Given the description of an element on the screen output the (x, y) to click on. 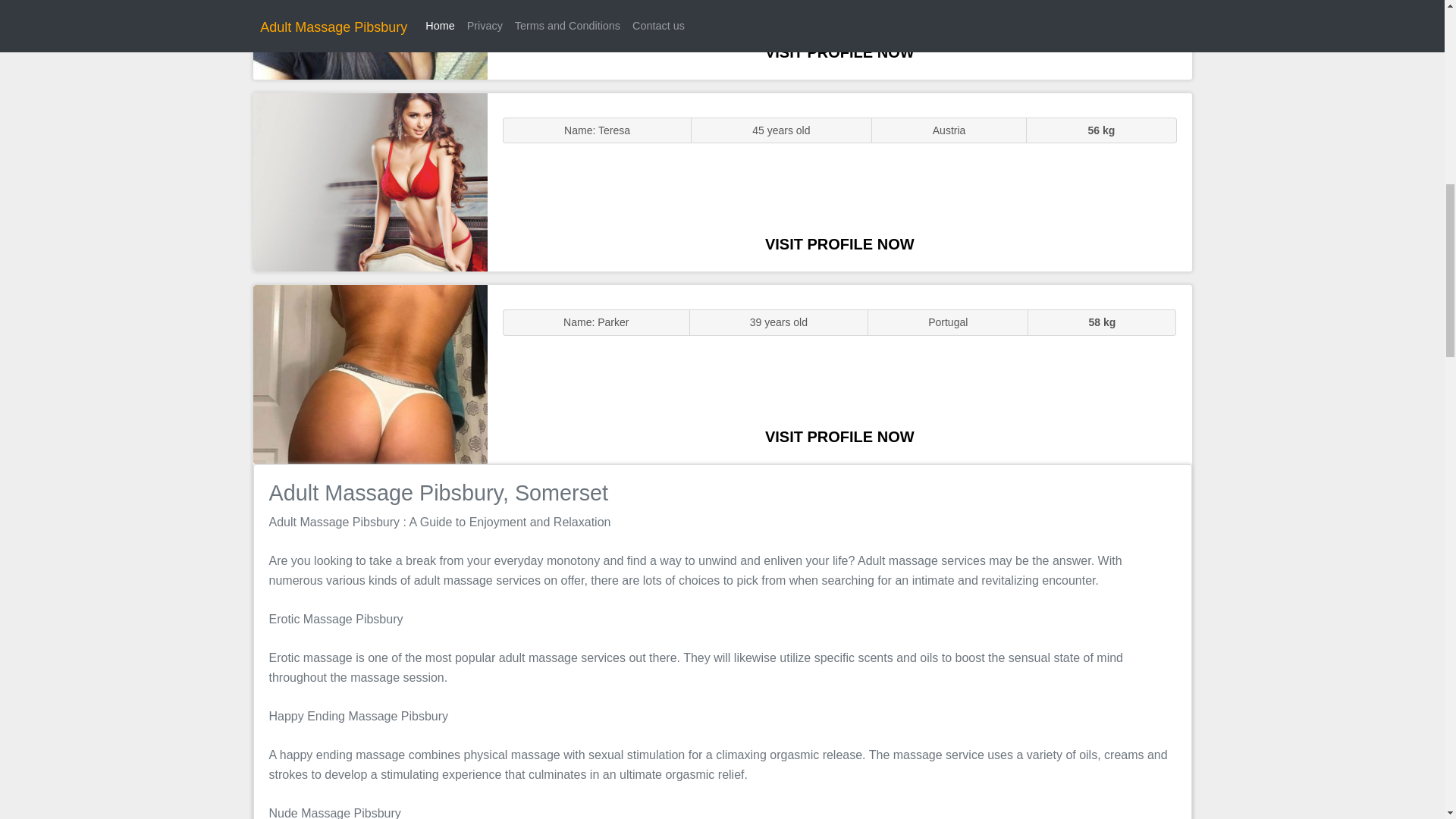
VISIT PROFILE NOW (839, 52)
Massage (370, 374)
Sluts (370, 39)
VISIT PROFILE NOW (839, 243)
VISIT PROFILE NOW (839, 436)
Sluts (370, 182)
